Given the description of an element on the screen output the (x, y) to click on. 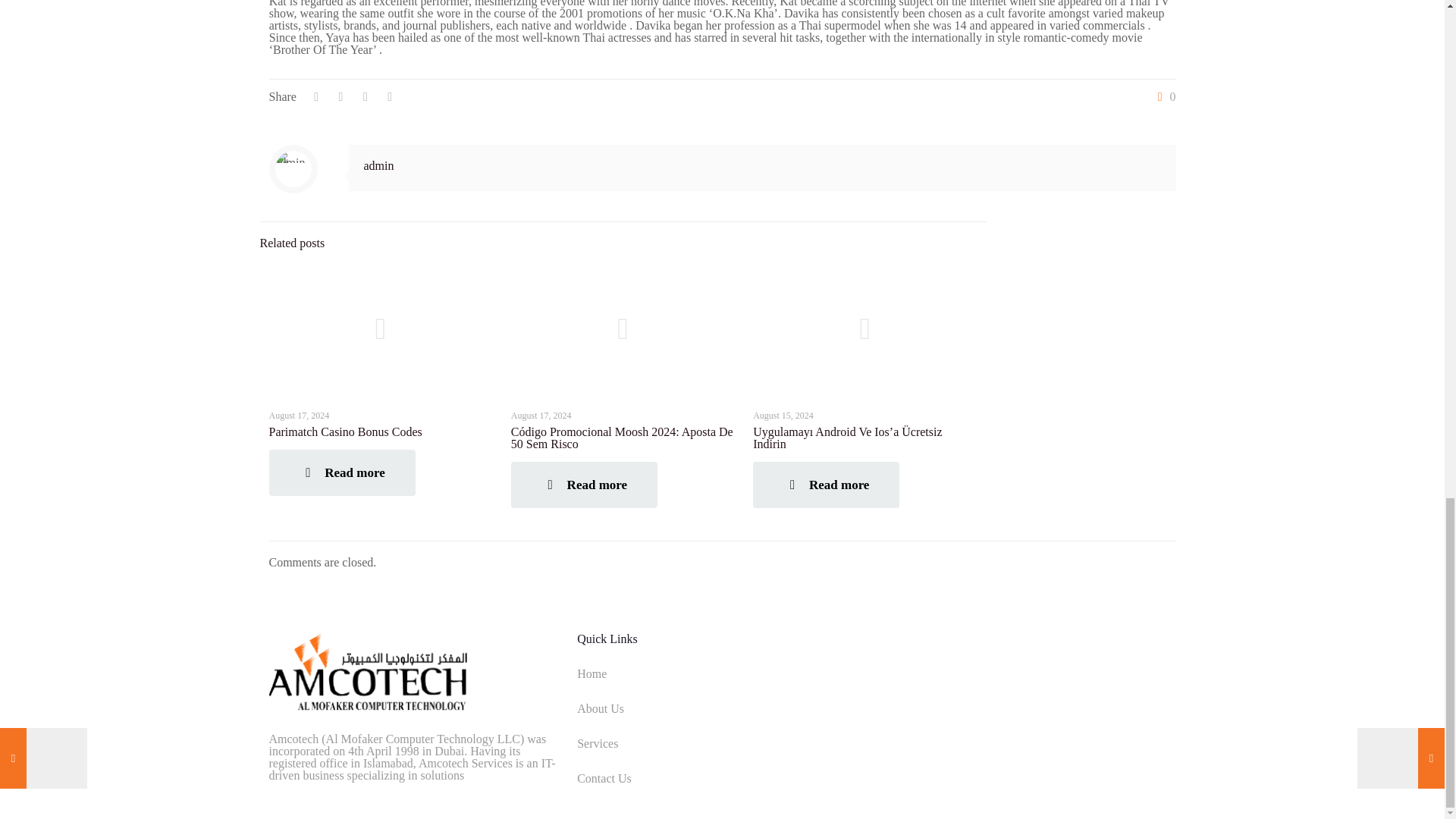
Read more (584, 484)
Read more (825, 484)
0 (1162, 96)
Read more (340, 472)
Parimatch Casino Bonus Codes (344, 431)
admin (379, 164)
